Given the description of an element on the screen output the (x, y) to click on. 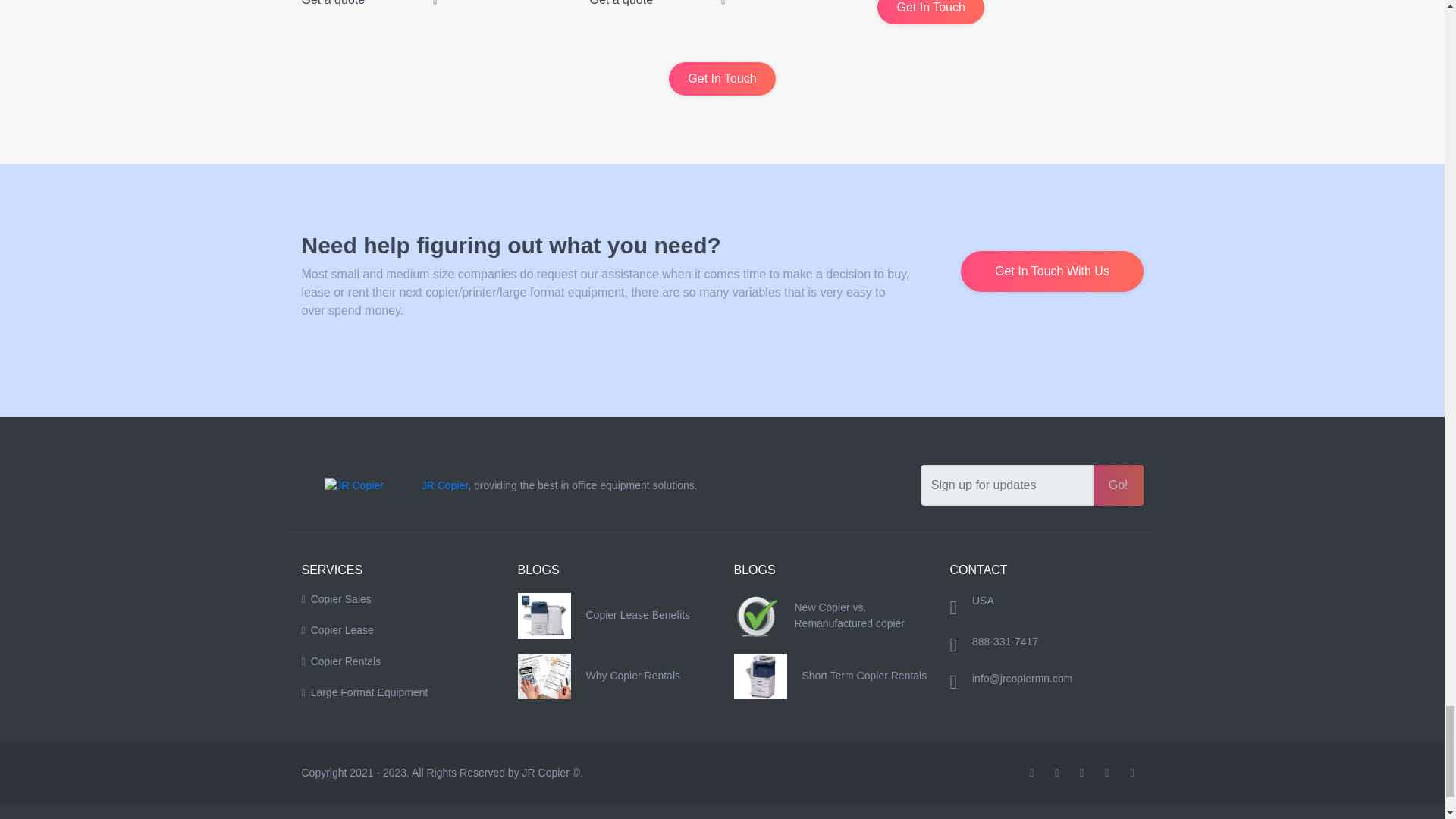
JR Copier (444, 485)
Go! (1117, 485)
Get a quote                  (657, 2)
Copier Sales (398, 599)
Get a quote                  (369, 2)
Get In Touch With Us (1051, 270)
Get In Touch (721, 78)
Get In Touch (930, 12)
